Given the description of an element on the screen output the (x, y) to click on. 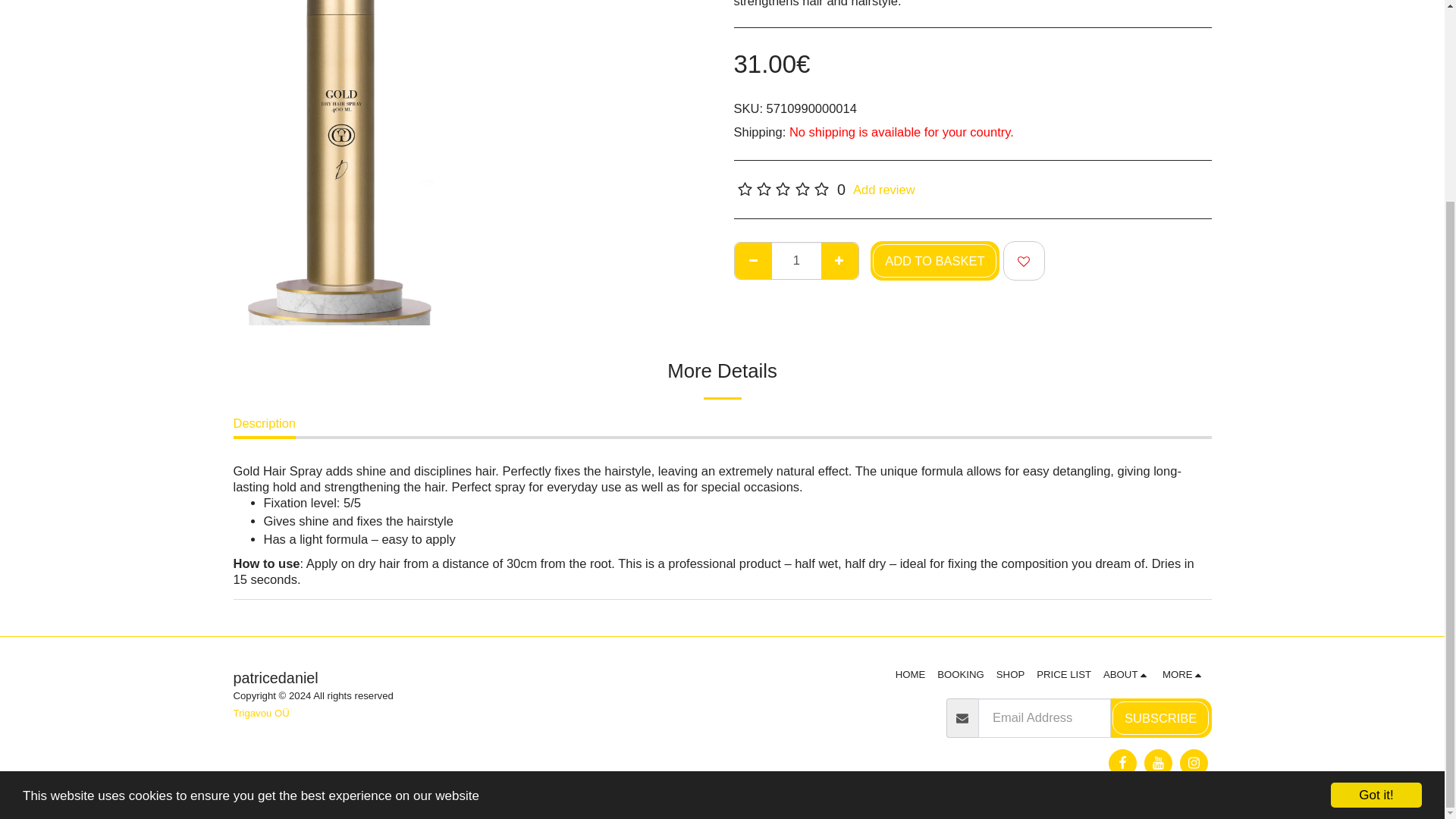
ADD TO BASKET (934, 260)
Add review (884, 189)
Description (264, 426)
1 (796, 260)
